Given the description of an element on the screen output the (x, y) to click on. 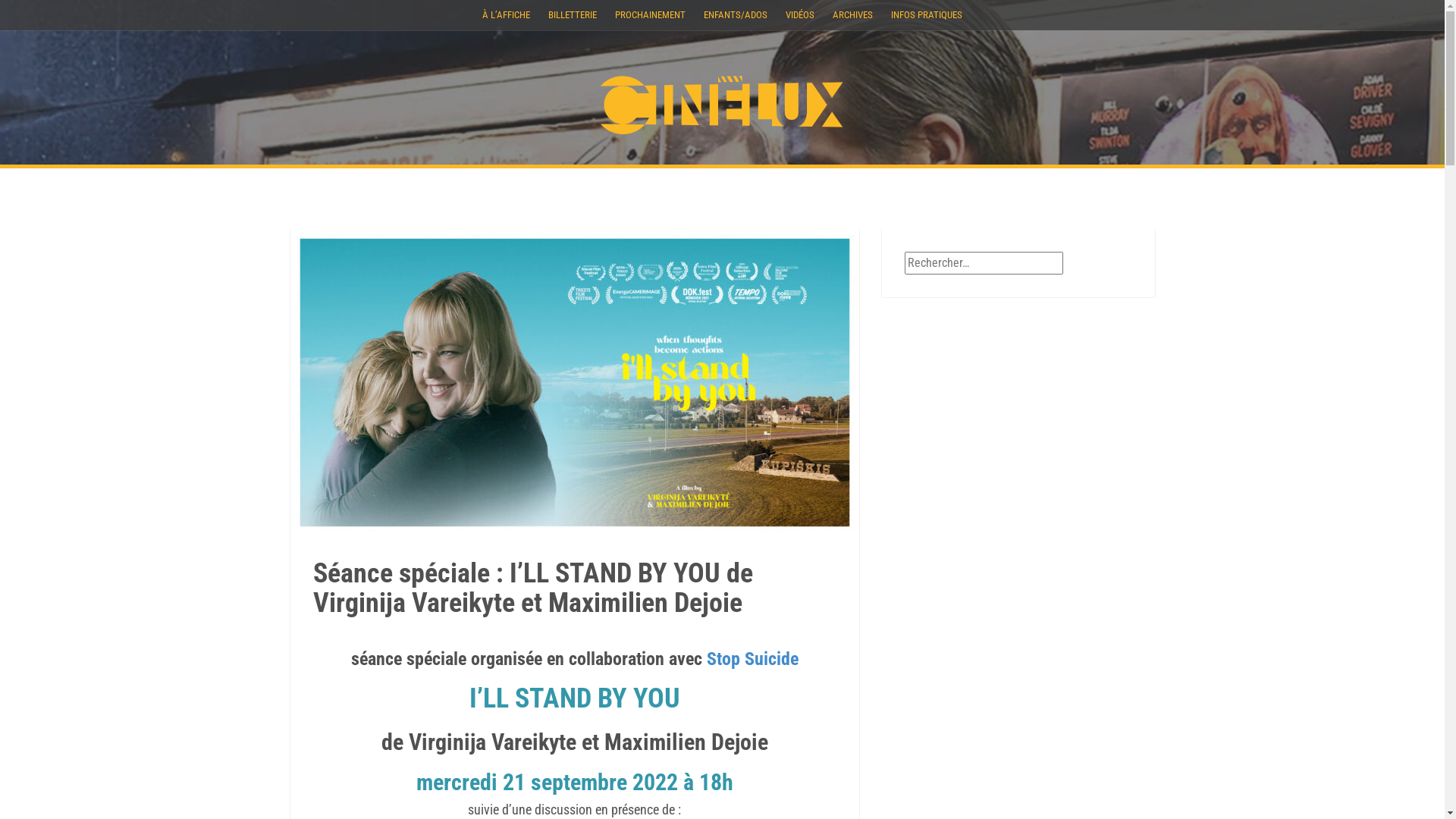
INFOS PRATIQUES Element type: text (926, 14)
BILLETTERIE Element type: text (572, 14)
Rechercher Element type: text (35, 11)
Stop Suicide Element type: text (752, 658)
Skip to content Element type: text (0, 0)
ARCHIVES Element type: text (852, 14)
ENFANTS/ADOS Element type: text (735, 14)
PROCHAINEMENT Element type: text (650, 14)
